Given the description of an element on the screen output the (x, y) to click on. 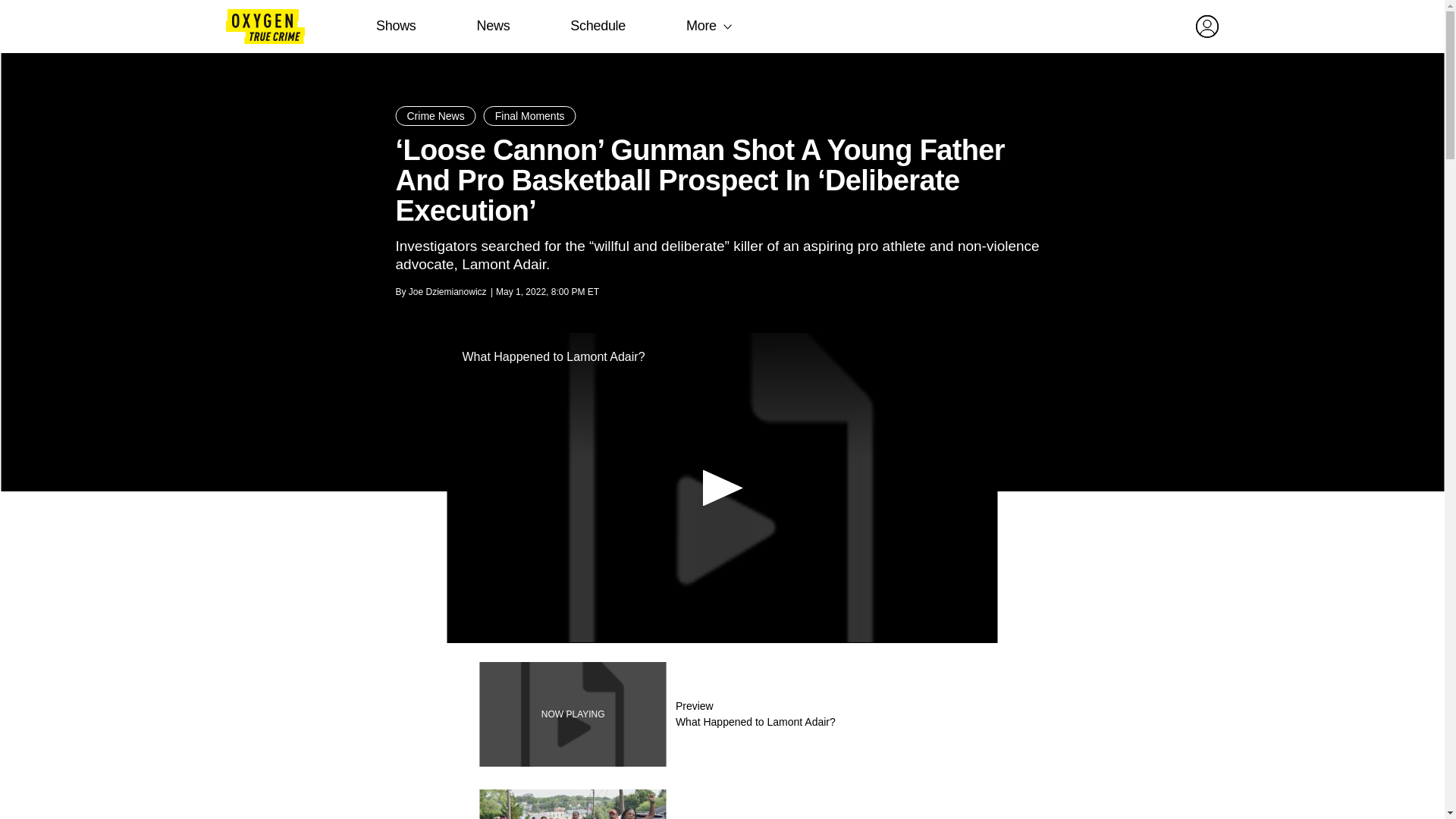
More (700, 26)
News (492, 26)
Crime News (436, 116)
Shows (395, 26)
Joe Dziemianowicz (447, 291)
Final Moments (721, 714)
Schedule (721, 804)
Skip to main content (529, 116)
